Given the description of an element on the screen output the (x, y) to click on. 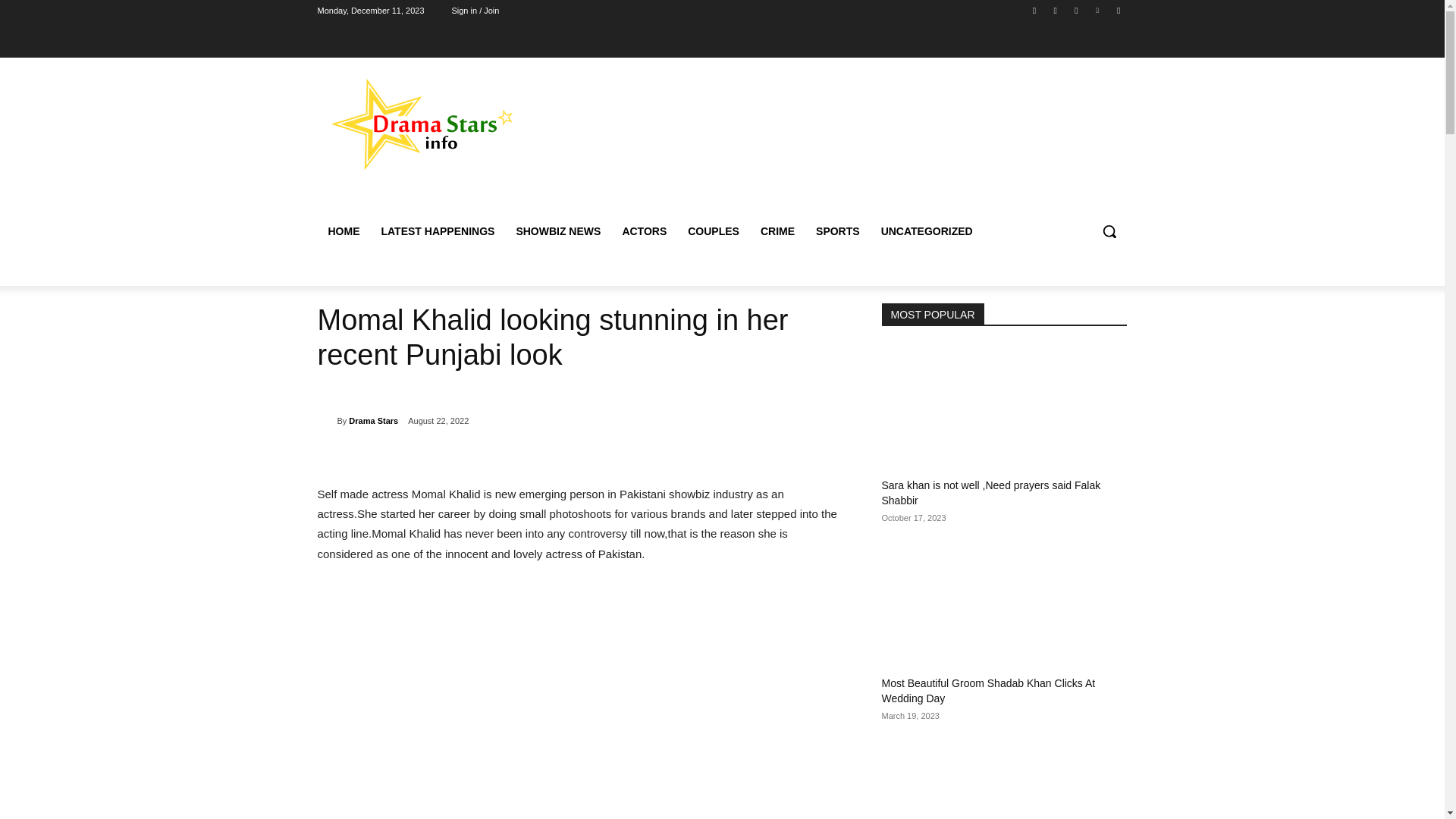
Instagram (1055, 9)
LATEST HAPPENINGS (437, 230)
CRIME (777, 230)
SHOWBIZ NEWS (558, 230)
SPORTS (837, 230)
ACTORS (644, 230)
Youtube (1117, 9)
HOME (343, 230)
Drama Stars (326, 420)
UNCATEGORIZED (927, 230)
COUPLES (713, 230)
Twitter (1075, 9)
Vimeo (1097, 9)
Facebook (1034, 9)
Drama Stars (373, 420)
